Given the description of an element on the screen output the (x, y) to click on. 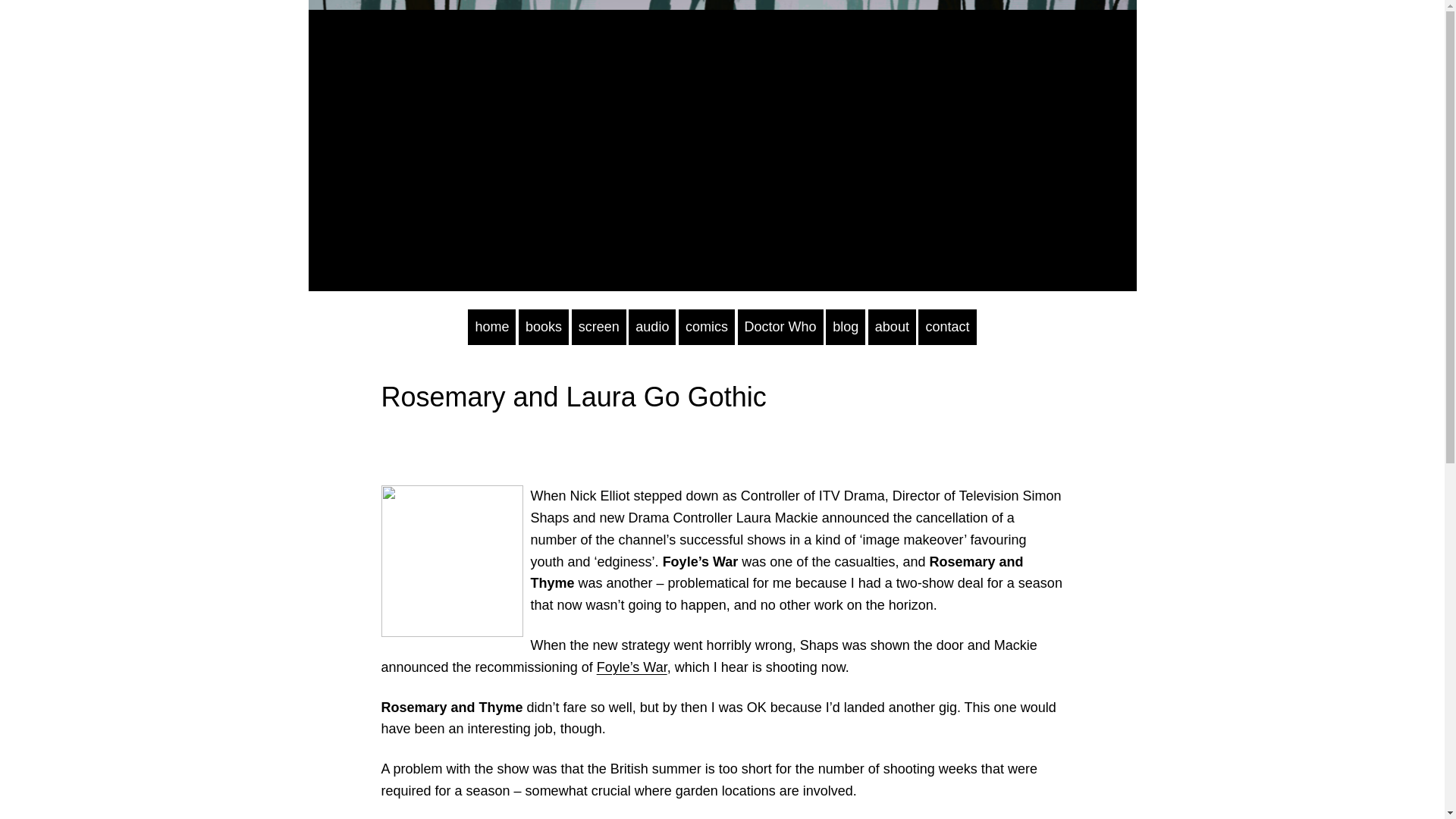
about (891, 326)
contact (946, 326)
audio (651, 326)
comics (706, 326)
home (491, 326)
books (543, 326)
Doctor Who (781, 326)
screen (599, 326)
blog (844, 326)
